Given the description of an element on the screen output the (x, y) to click on. 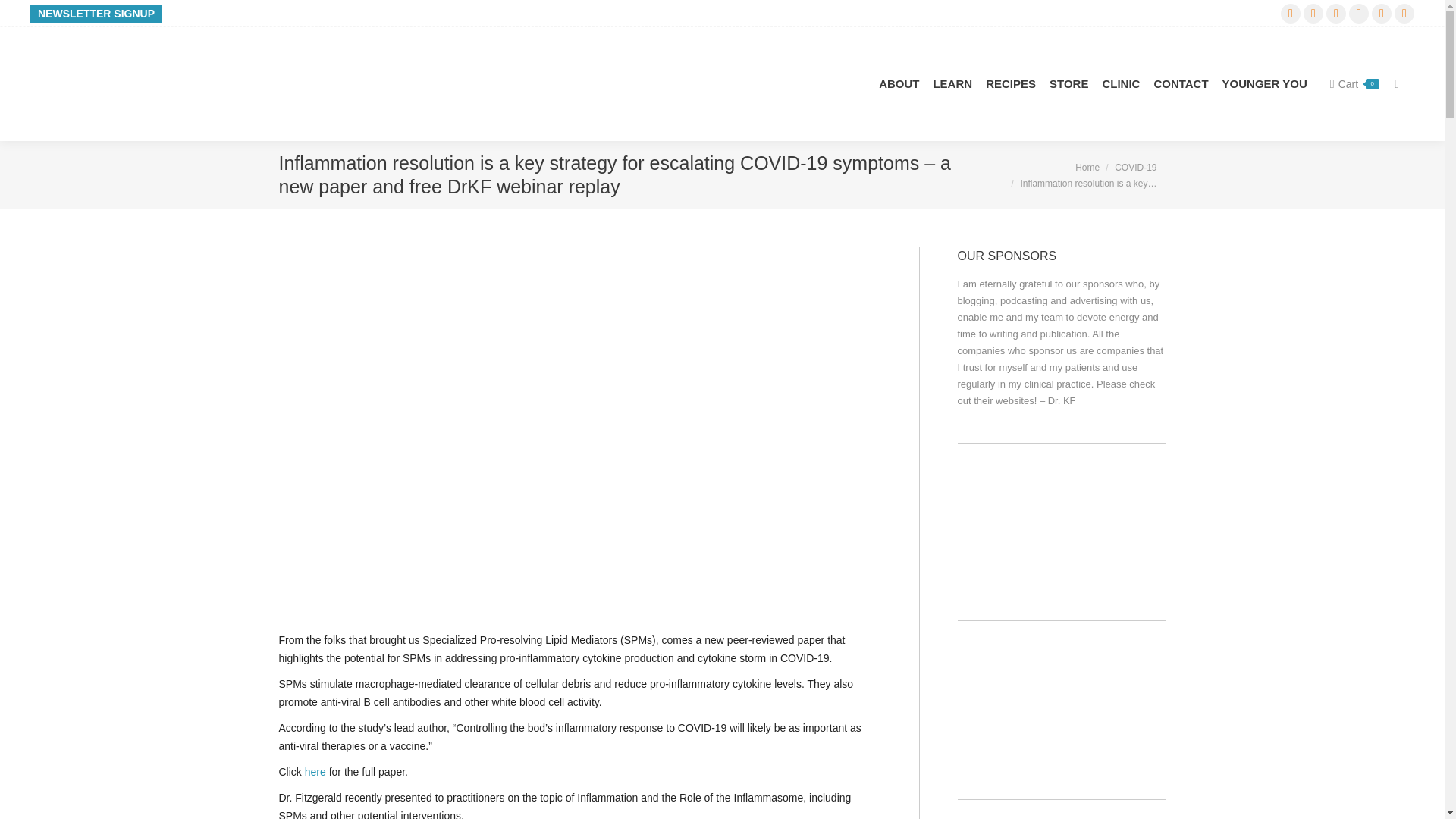
Pinterest page opens in new window (1313, 12)
YouTube page opens in new window (1335, 12)
Twitter page opens in new window (1381, 12)
YOUNGER YOU (1265, 83)
YouTube page opens in new window (1335, 12)
LEARN (952, 83)
Facebook page opens in new window (1403, 12)
Twitter page opens in new window (1381, 12)
Instagram page opens in new window (1358, 12)
RECIPES (1010, 83)
ABOUT (898, 83)
Pinterest page opens in new window (1313, 12)
Facebook page opens in new window (1403, 12)
SoundCloud page opens in new window (1290, 12)
Instagram page opens in new window (1358, 12)
